Given the description of an element on the screen output the (x, y) to click on. 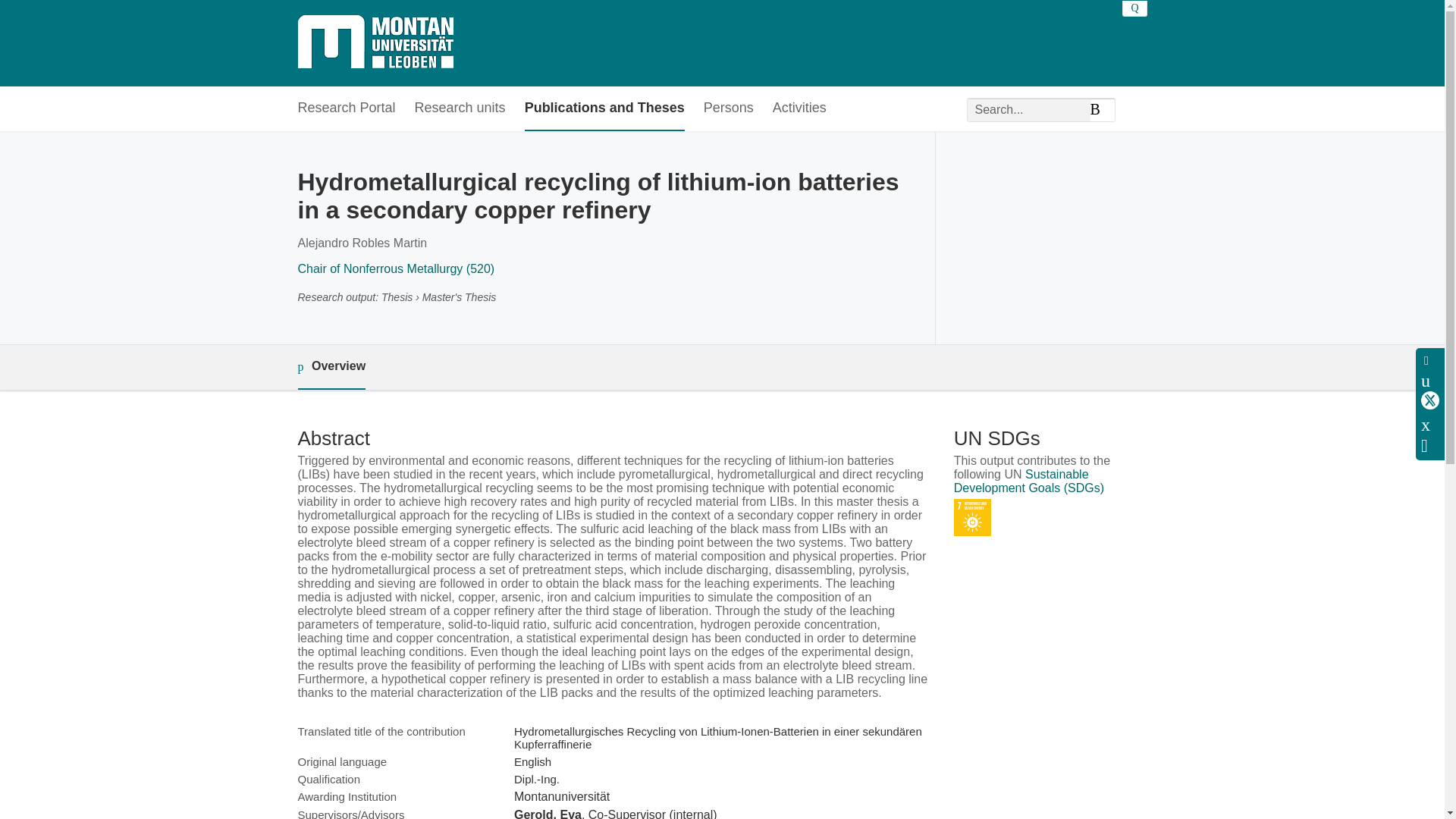
SDG 7 - Affordable and Clean Energy (972, 517)
Overview (331, 366)
Research units (459, 108)
Research Portal (345, 108)
Persons (728, 108)
Publications and Theses (604, 108)
Activities (800, 108)
